Given the description of an element on the screen output the (x, y) to click on. 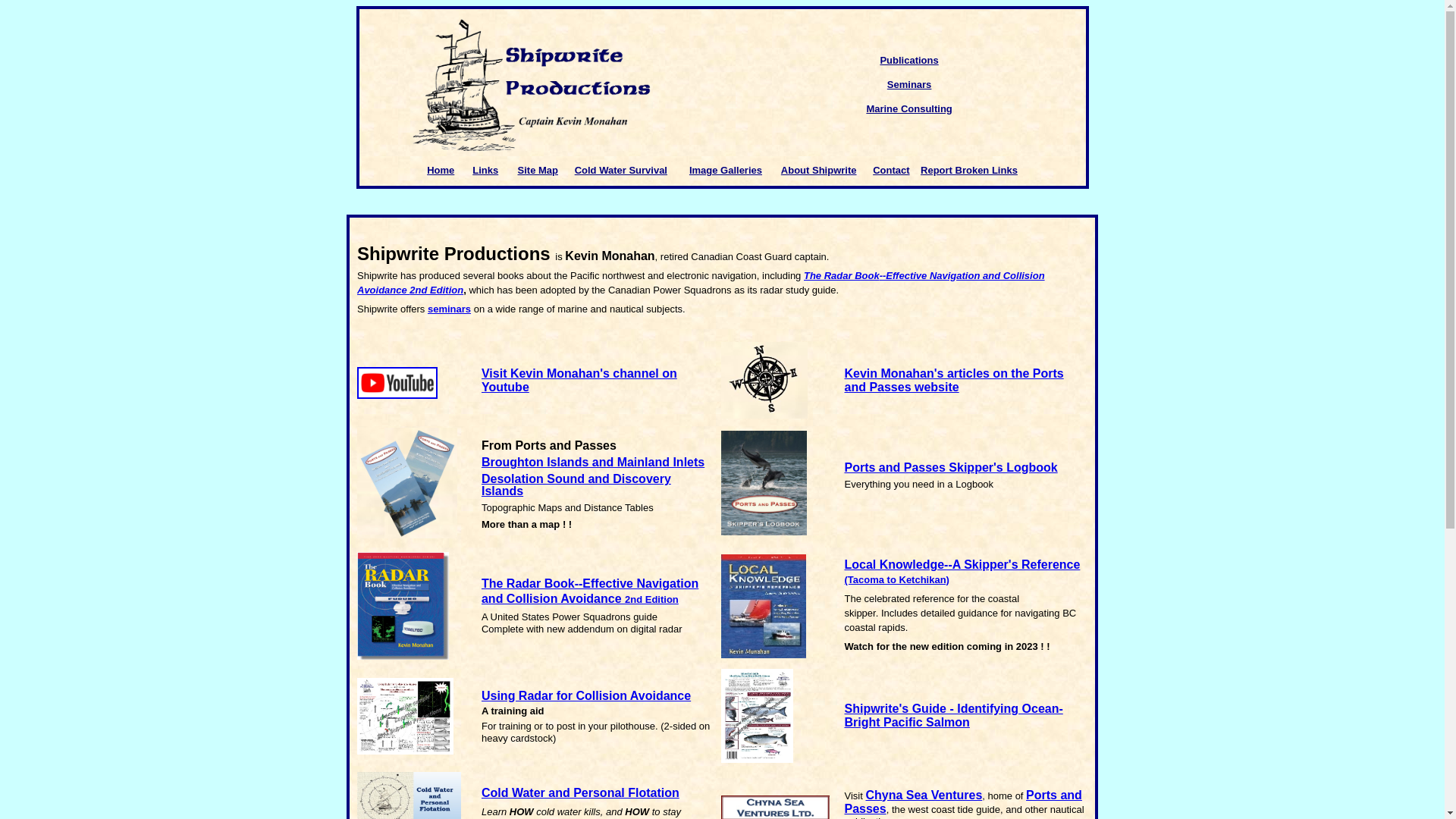
Cold Water and Personal Flotation Element type: text (580, 792)
Broughton Islands and Mainland Inlets Element type: text (592, 461)
     Element type: text (672, 169)
Ports and Passes Element type: text (963, 801)
Seminars Element type: text (909, 84)
Cold Water Survival Element type: text (620, 169)
Local Knowledge--A Skipper's Reference (Tacoma to Ketchikan) Element type: text (962, 571)
Desolation Sound and Discovery Islands Element type: text (576, 484)
About Shipwrite Element type: text (818, 169)
Home Element type: text (440, 169)
Report Broken Links Element type: text (968, 169)
The Radar Book Element type: text (841, 275)
Shipwrite's Guide - Identifying Ocean-Bright Pacific Salmon Element type: text (953, 715)
Ports and Passes Skipper's Logbook Element type: text (950, 467)
Kevin Monahan's articles on the Ports and Passes website Element type: text (953, 380)
    Element type: text (915, 169)
--Effective Navigation and Collision Avoidance 2nd Edition Element type: text (700, 282)
    Element type: text (682, 169)
Contact Element type: text (890, 169)
Using Radar for Collision Avoidance Element type: text (585, 695)
Visit Kevin Monahan's channel on Youtube Element type: text (579, 380)
Links Element type: text (485, 169)
Chyna Sea Ventures Element type: text (923, 794)
Marine Consulting Element type: text (908, 108)
Site Map Element type: text (537, 169)
Publications Element type: text (908, 59)
      Element type: text (566, 169)
seminars Element type: text (448, 308)
Image Galleries Element type: text (725, 169)
